Given the description of an element on the screen output the (x, y) to click on. 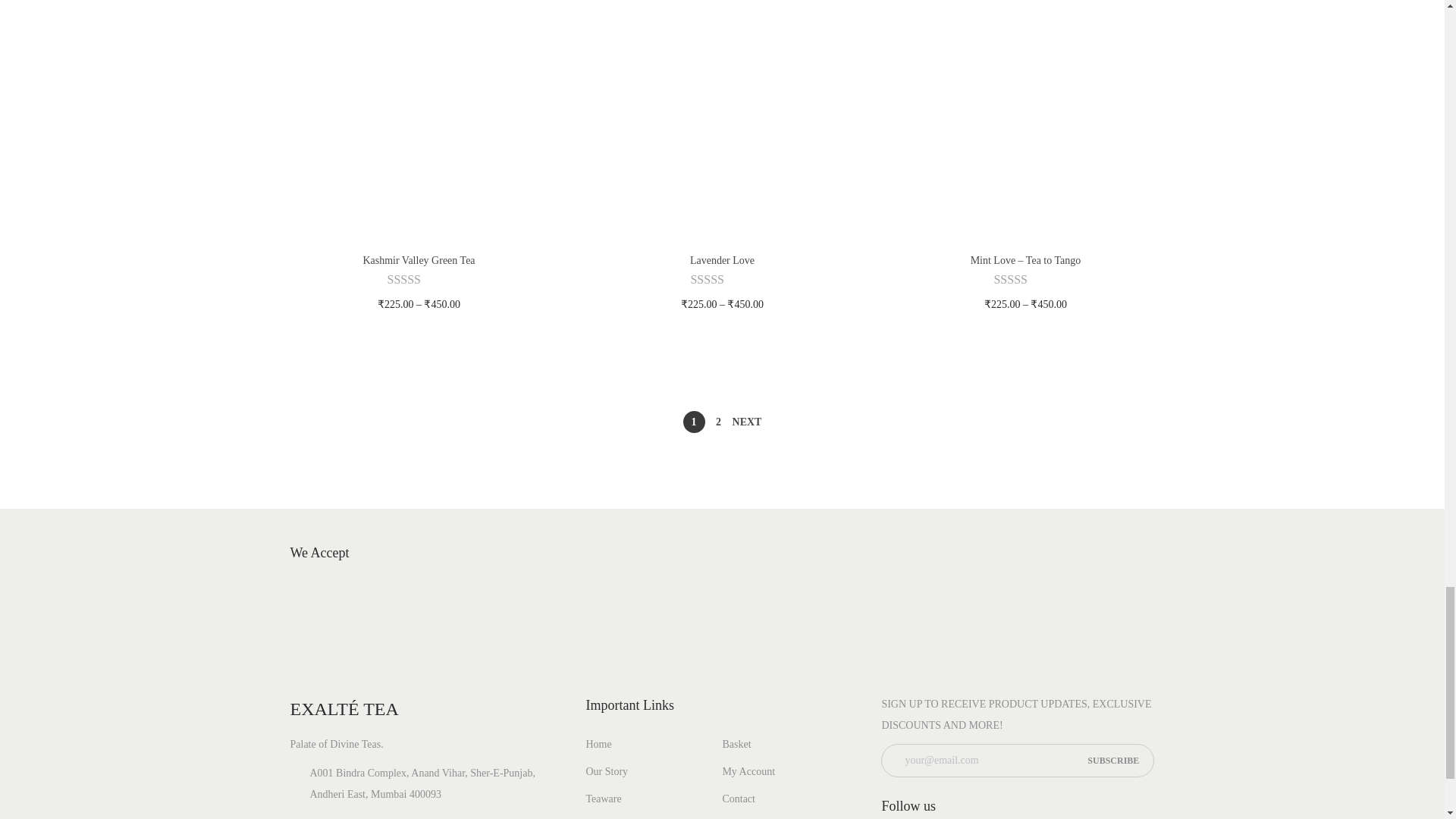
Subscribe (1112, 760)
